Given the description of an element on the screen output the (x, y) to click on. 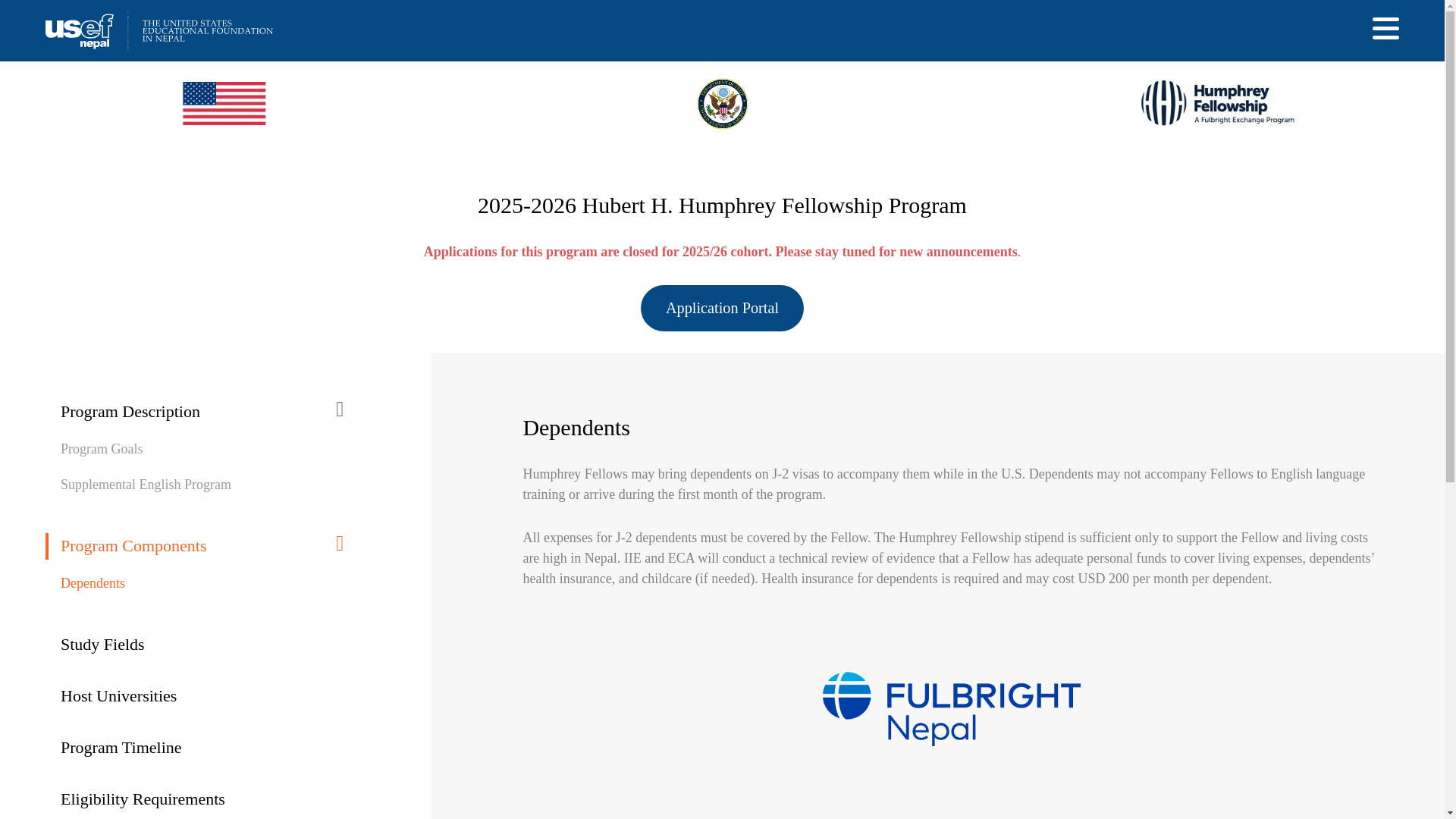
Study Fields (102, 651)
Program Goals (101, 450)
Program Description (195, 418)
Application Portal (721, 308)
Supplemental English Program (146, 486)
Program Components (195, 553)
Host Universities (118, 703)
Eligibility Requirements (143, 802)
Program Timeline (121, 754)
Dependents (93, 585)
